Given the description of an element on the screen output the (x, y) to click on. 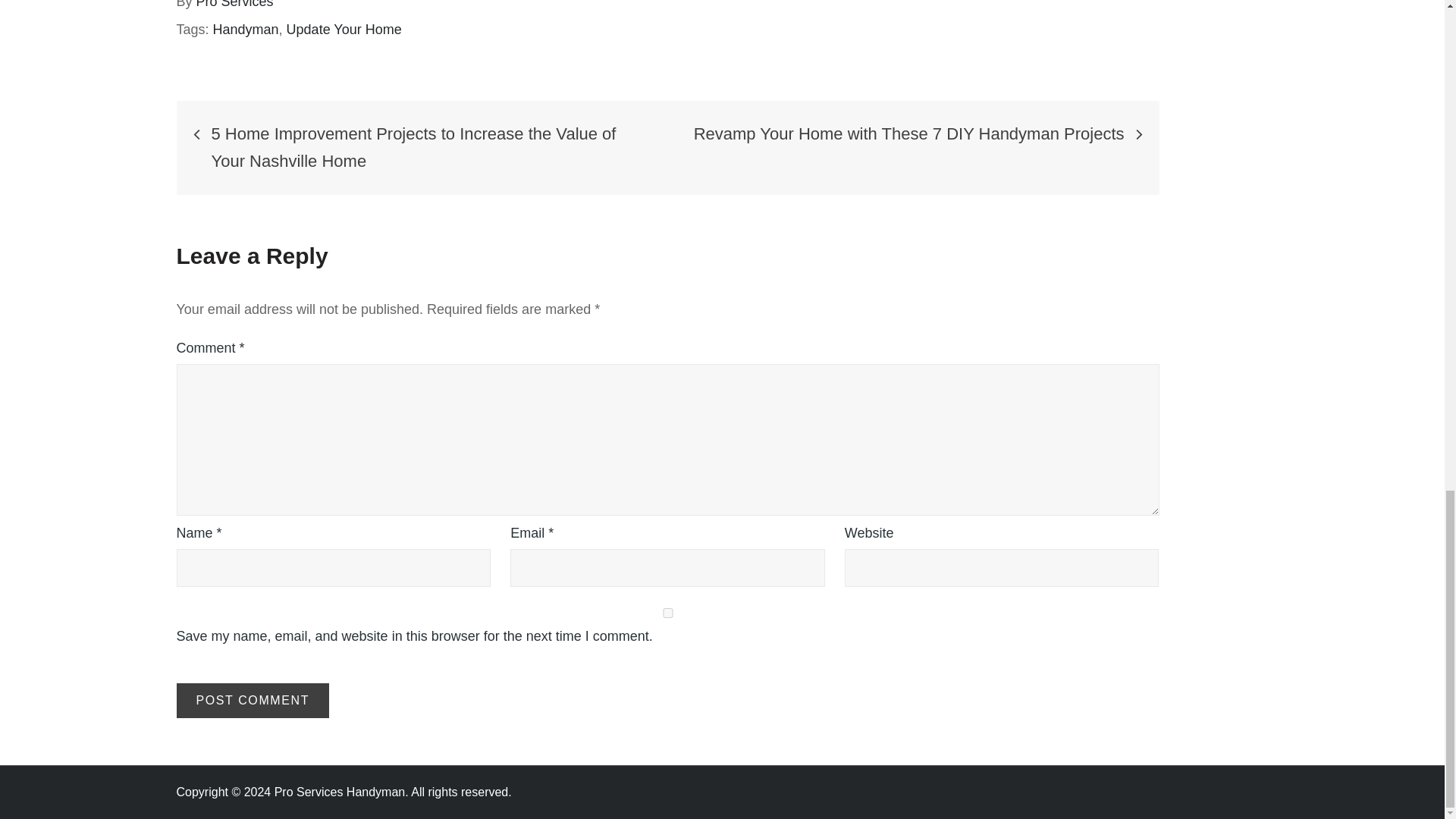
Handyman (245, 29)
Update Your Home (343, 29)
Pro Services (234, 4)
Post Comment (252, 700)
Post Comment (252, 700)
